Given the description of an element on the screen output the (x, y) to click on. 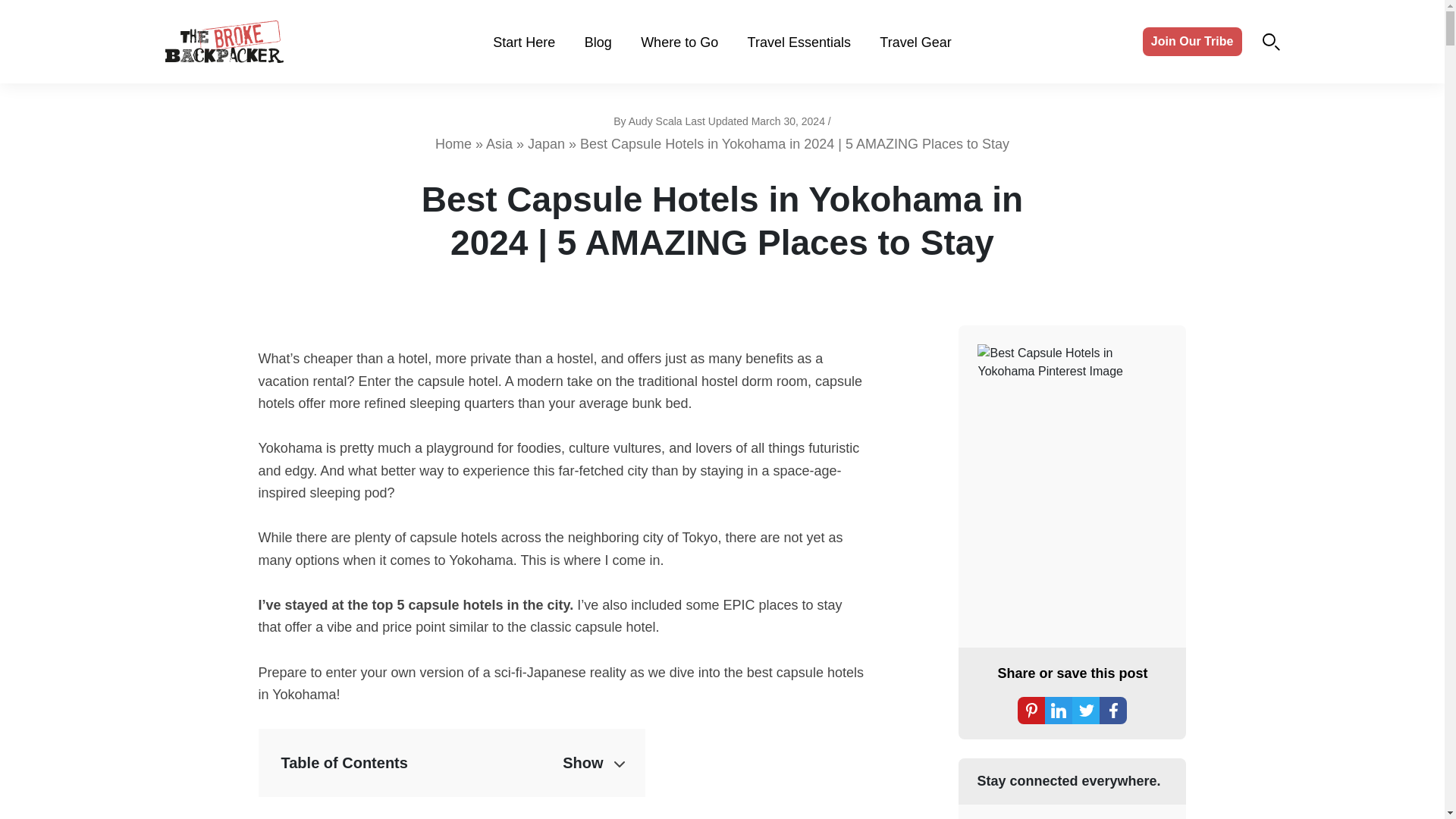
Where to Go (678, 42)
Start Here (523, 42)
Blog (598, 42)
